Given the description of an element on the screen output the (x, y) to click on. 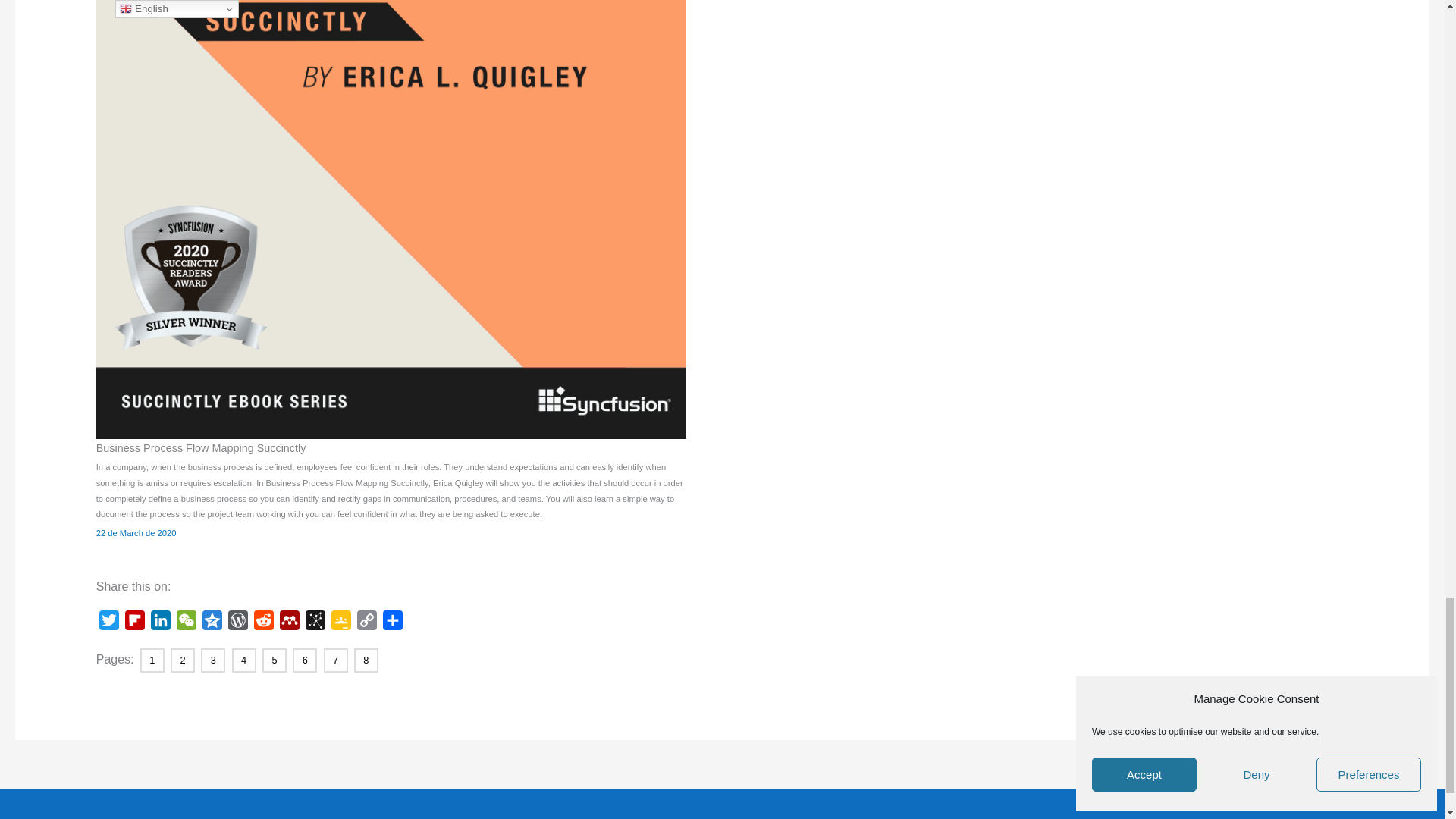
Mendeley (289, 623)
Reddit (263, 623)
BibSonomy (315, 623)
Qzone (212, 623)
WordPress (237, 623)
LinkedIn (160, 623)
WeChat (186, 623)
Twitter (109, 623)
Flipboard (135, 623)
Google Classroom (341, 623)
